Given the description of an element on the screen output the (x, y) to click on. 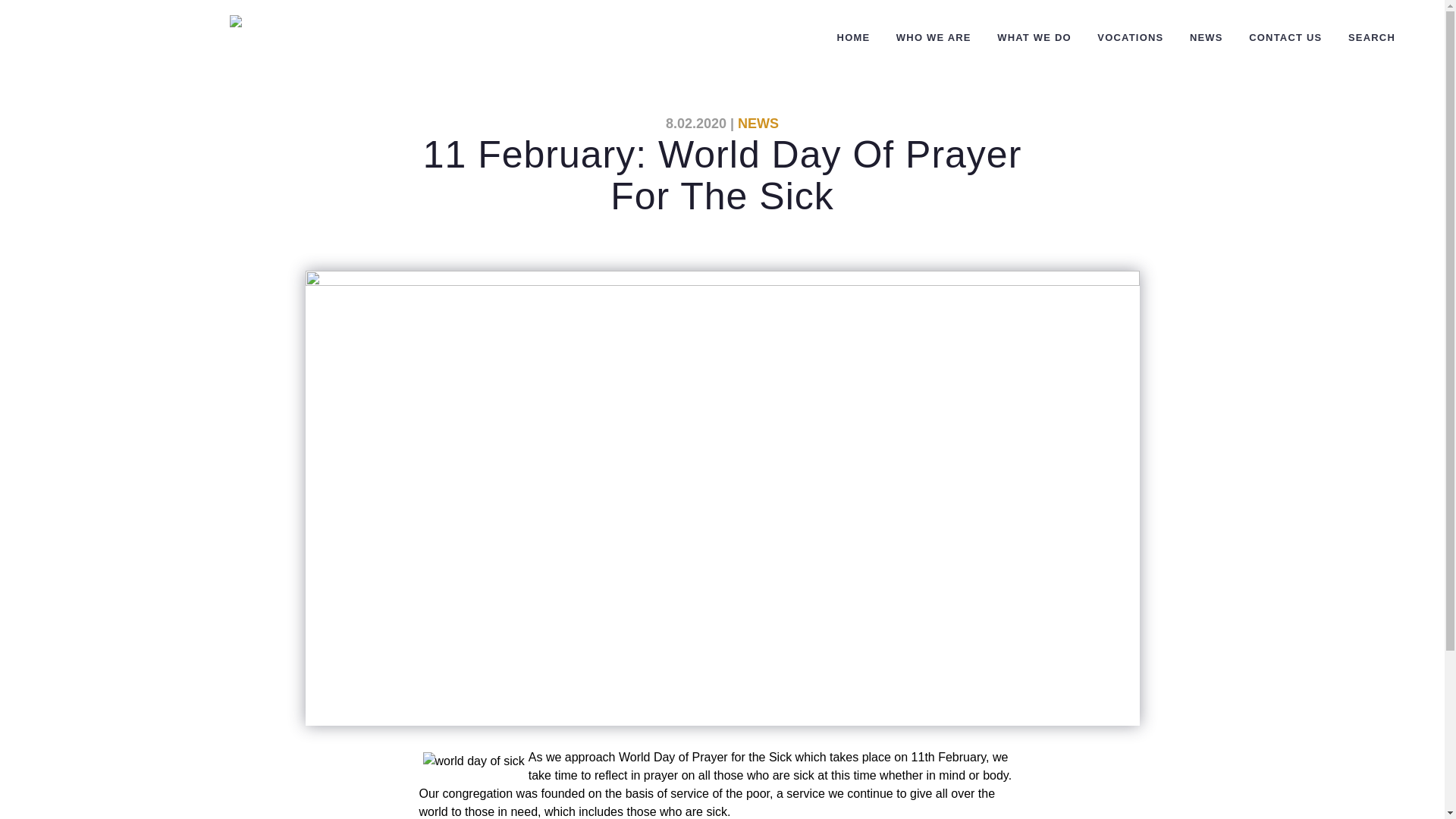
Religious Sisters of Charity (430, 28)
SEARCH (1371, 38)
WHO WE ARE (933, 38)
CONTACT US (1285, 38)
VOCATIONS (1130, 38)
WHAT WE DO (1034, 38)
